Given the description of an element on the screen output the (x, y) to click on. 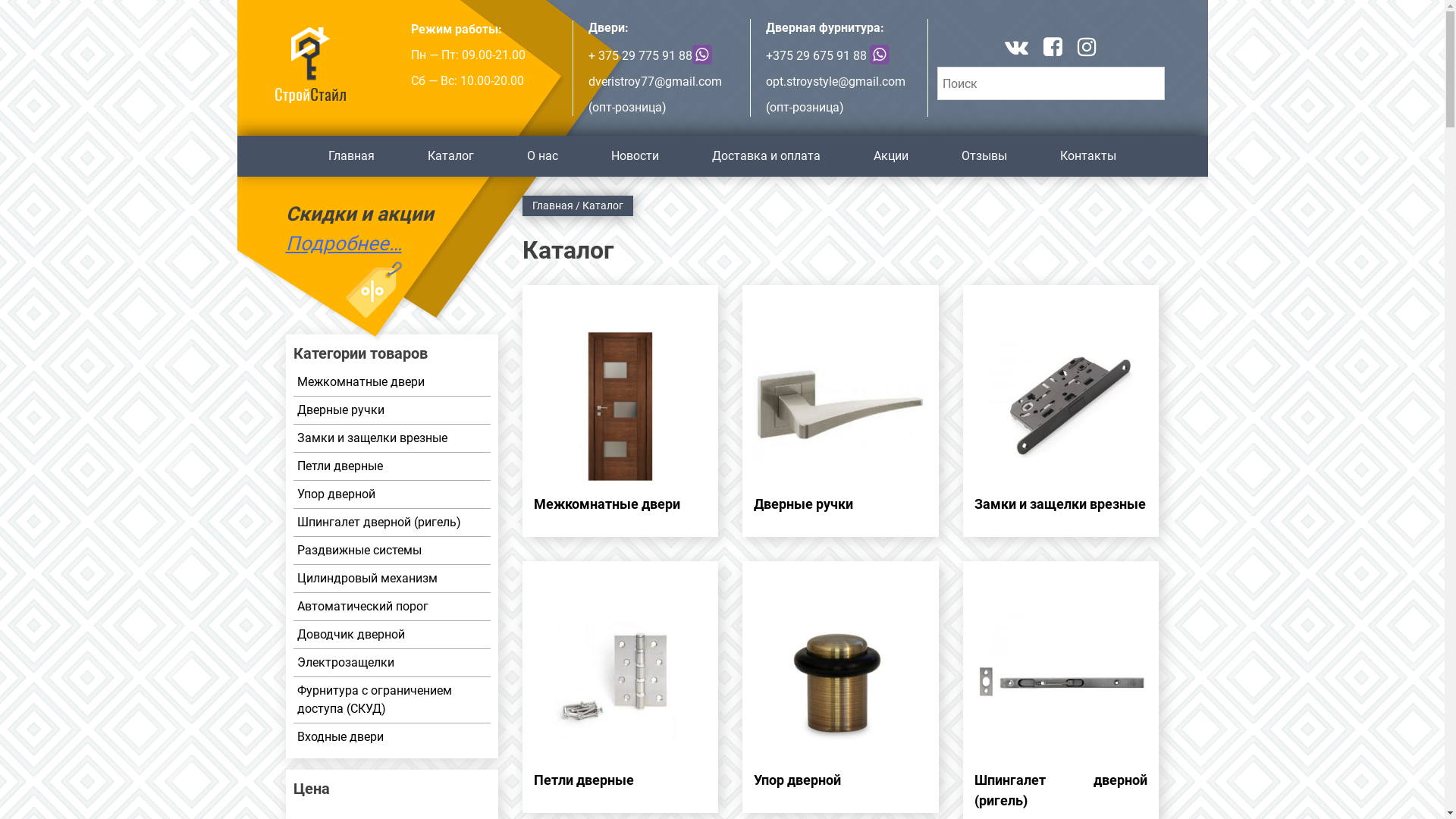
Instagram Element type: text (1086, 48)
vk Element type: text (1016, 48)
Facebook Element type: text (1052, 48)
